Given the description of an element on the screen output the (x, y) to click on. 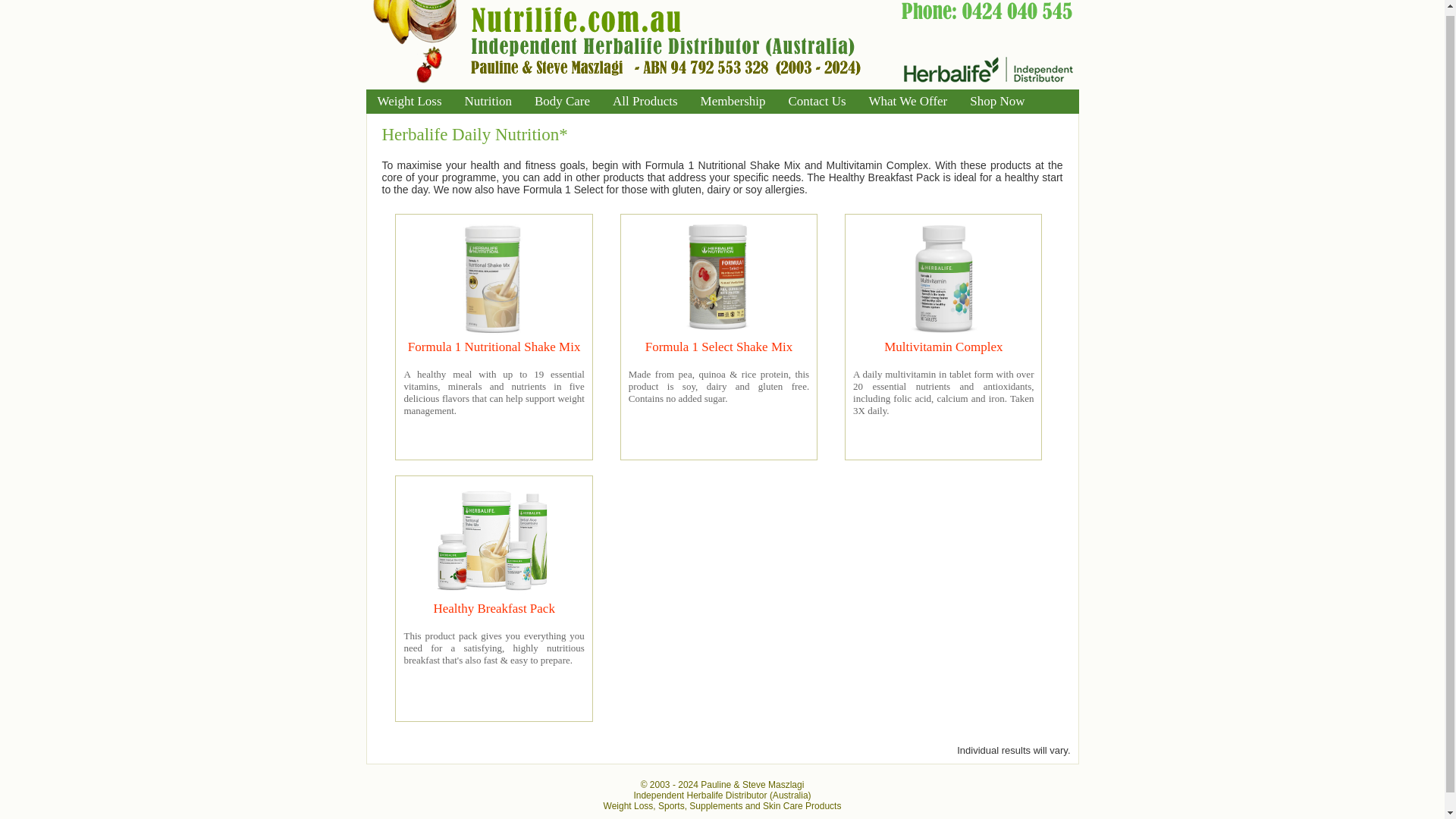
Shop Now (996, 101)
Healthy Breakfast Pack (493, 608)
All Products (644, 101)
Nutrition (487, 101)
Weight Loss (408, 101)
Multivitamin Complex (943, 346)
Formula 1 Nutritional Shake Mix (493, 346)
Contact Us (816, 101)
Membership (732, 101)
Formula 1 Select Shake Mix (719, 346)
What We Offer (908, 101)
Body Care (561, 101)
